Given the description of an element on the screen output the (x, y) to click on. 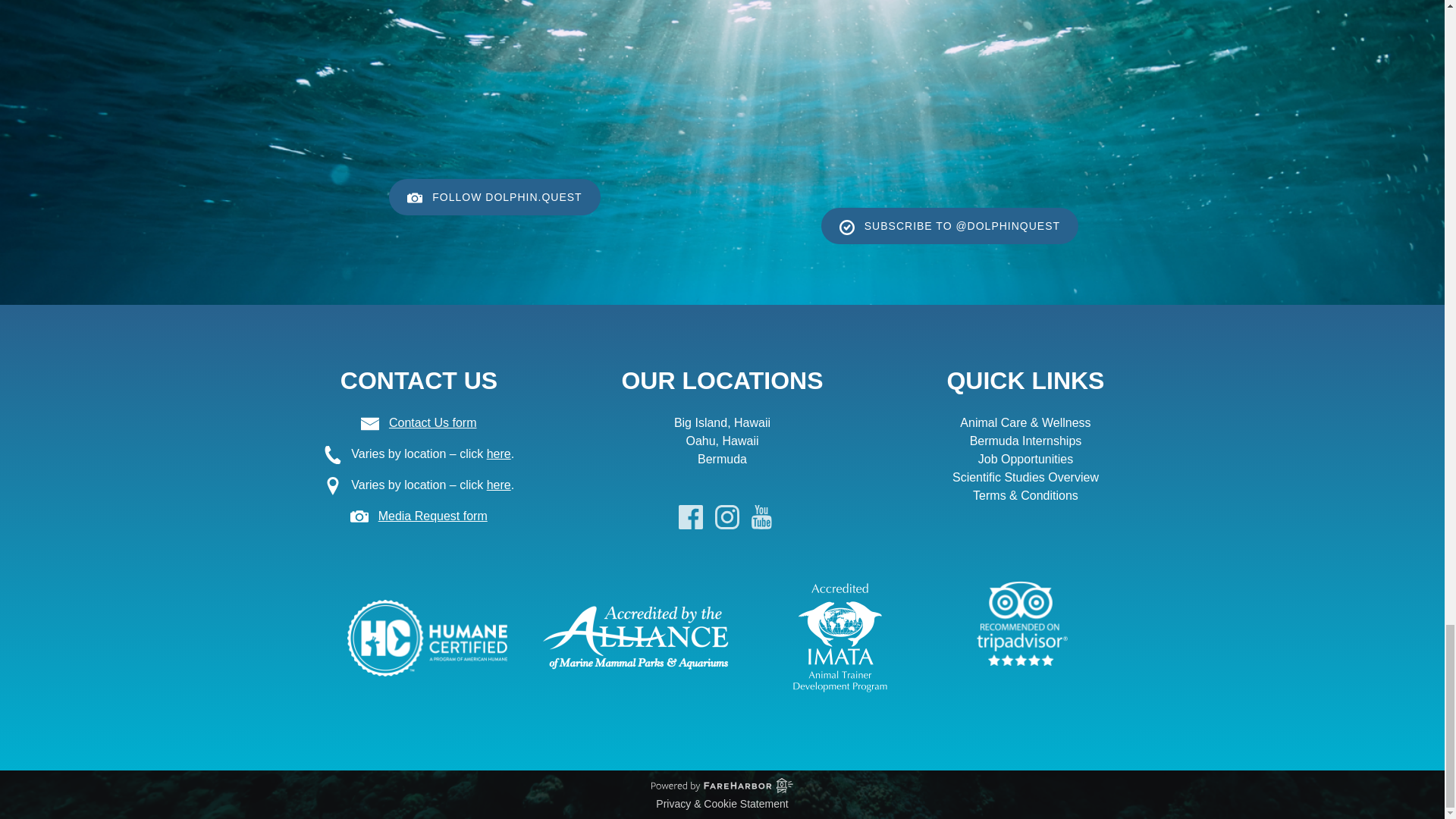
Phone (332, 454)
Camera (359, 515)
CHECKMARK (847, 227)
Envelope (369, 423)
Map Marker (332, 485)
CAMERA (414, 197)
